Given the description of an element on the screen output the (x, y) to click on. 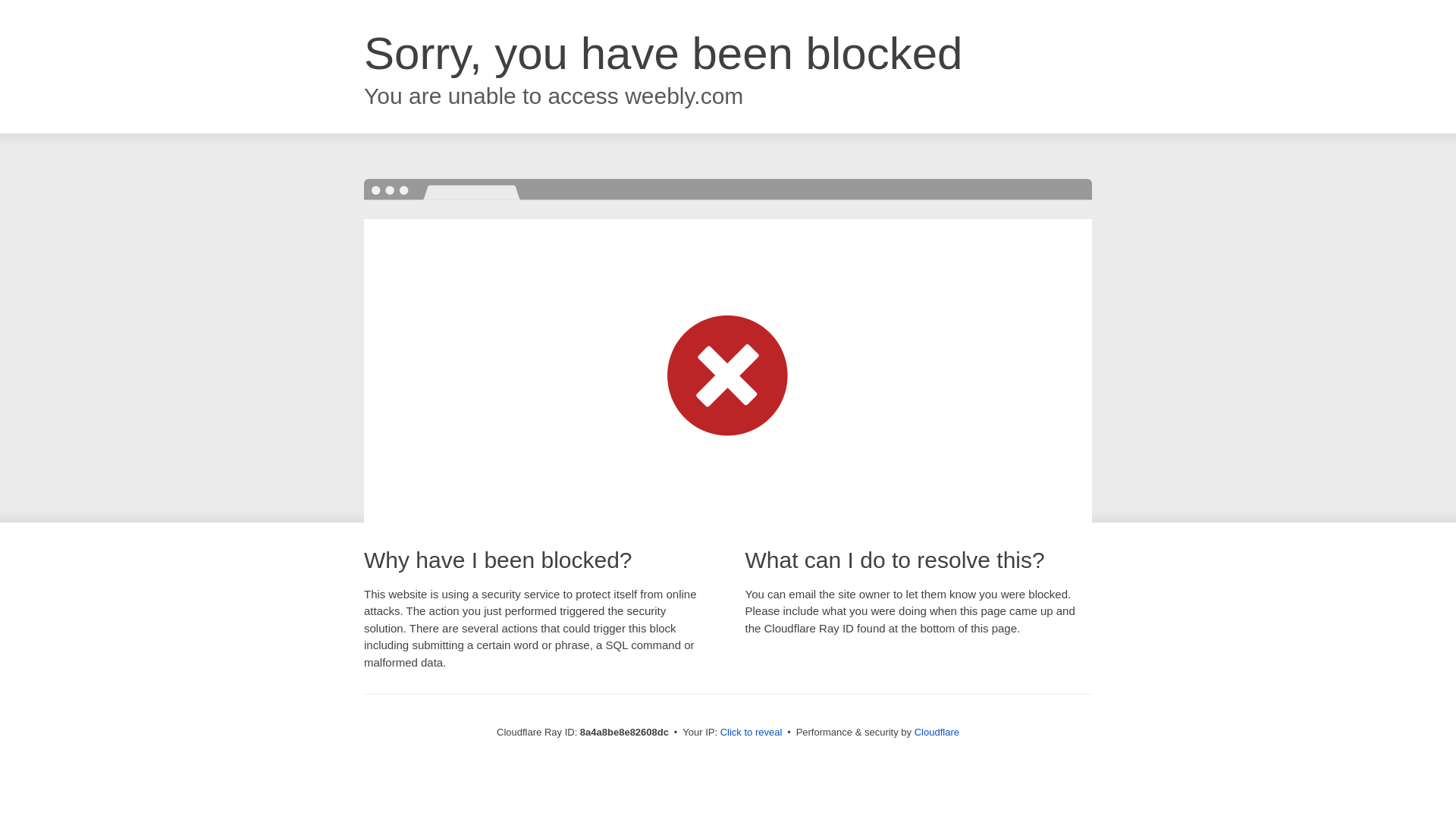
Click to reveal (751, 732)
Cloudflare (936, 731)
